Given the description of an element on the screen output the (x, y) to click on. 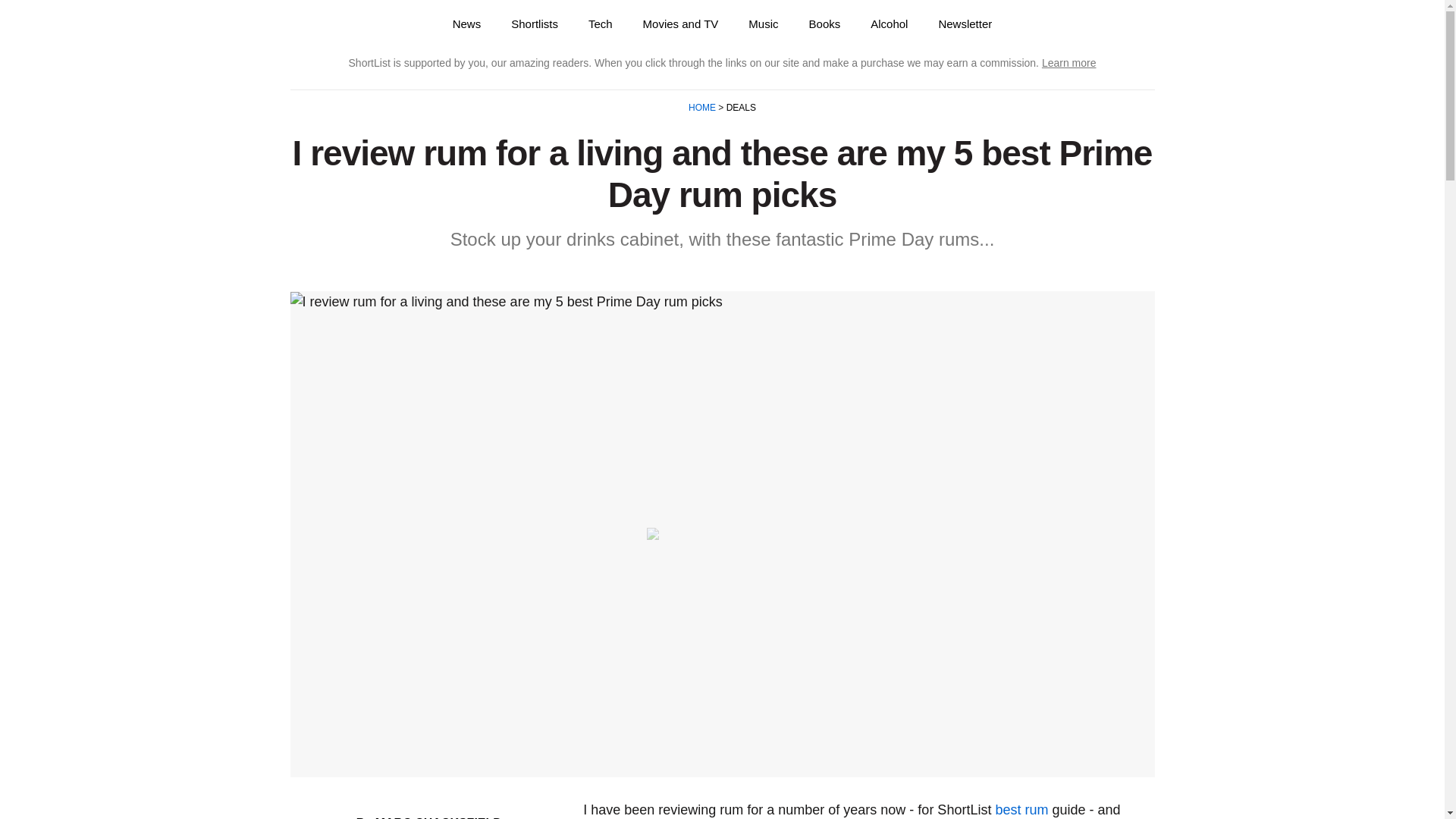
Tech (600, 23)
Books (824, 23)
By MARC CHACKSFIELD (429, 817)
Shortlists (534, 23)
News (467, 23)
Shortlist (346, 24)
best rum (1021, 809)
HOME (702, 107)
Music (763, 23)
Movies and TV (680, 23)
Newsletter (965, 23)
Learn more (1069, 62)
Alcohol (889, 23)
DEALS (739, 107)
